Given the description of an element on the screen output the (x, y) to click on. 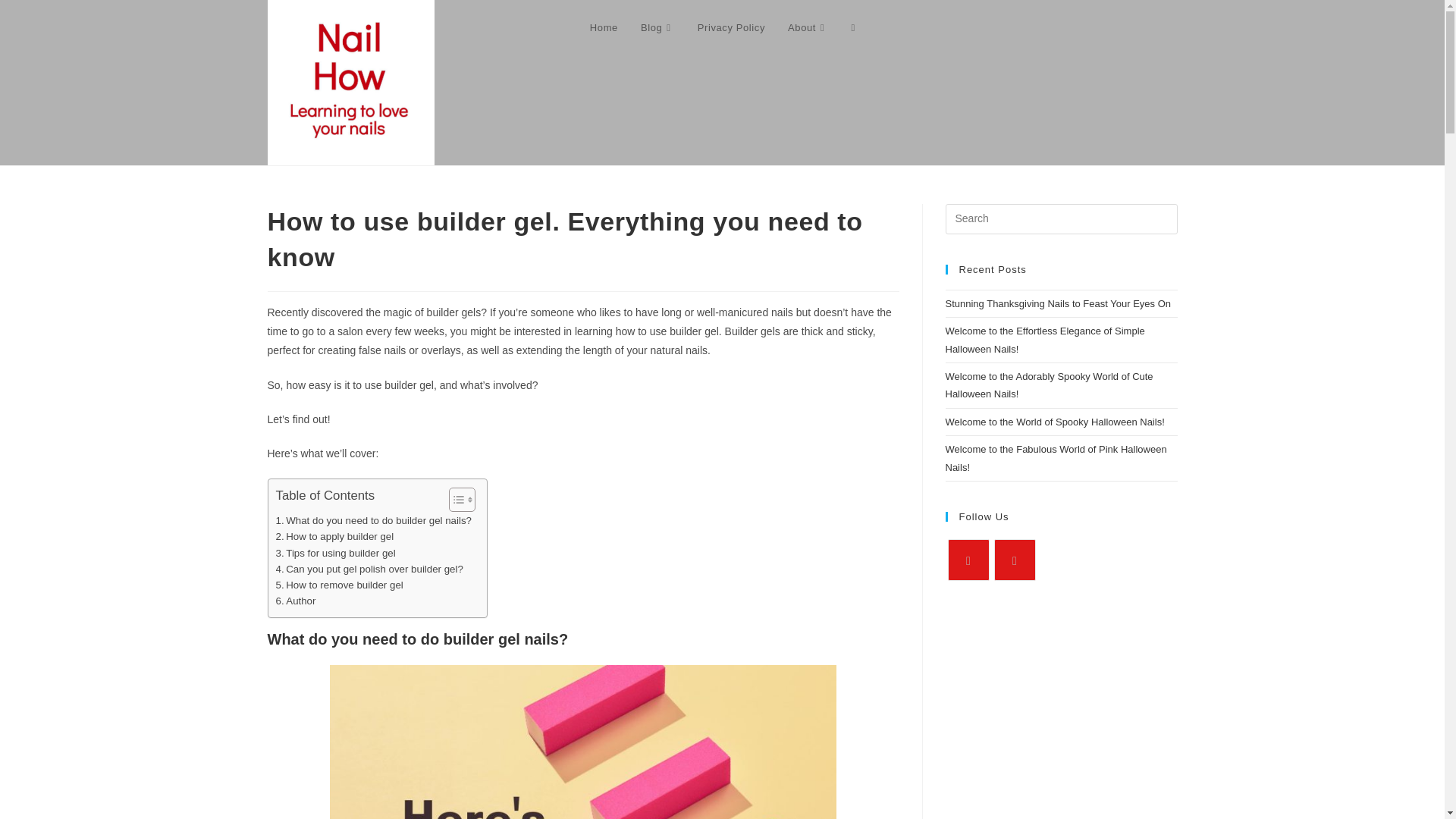
How to use builder gel. Everything you need to know 1 (582, 742)
About (808, 28)
Blog (656, 28)
Tips for using builder gel (336, 553)
What do you need to do builder gel nails? (373, 520)
Can you put gel polish over builder gel? (369, 569)
How to remove builder gel (339, 584)
Home (603, 28)
Privacy Policy (730, 28)
Author (295, 600)
